Given the description of an element on the screen output the (x, y) to click on. 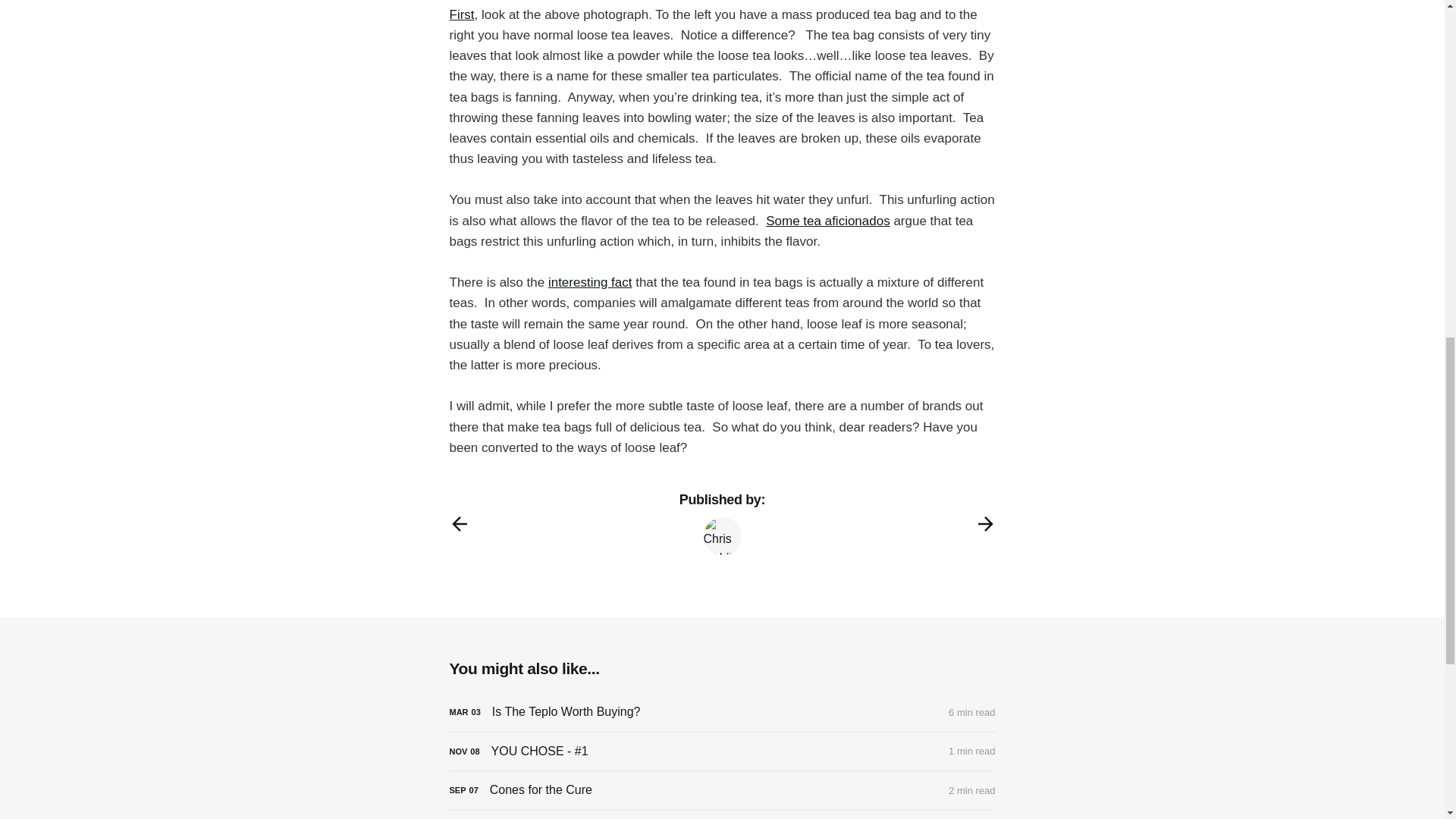
Low Quality Tea by Mixture on About.com (589, 282)
Restricting Leaf Expansion via Teavana.com (827, 220)
Some tea aficionados (827, 220)
interesting fact (589, 282)
First (461, 14)
Loose or Bagged Tea on About.com (461, 14)
